Given the description of an element on the screen output the (x, y) to click on. 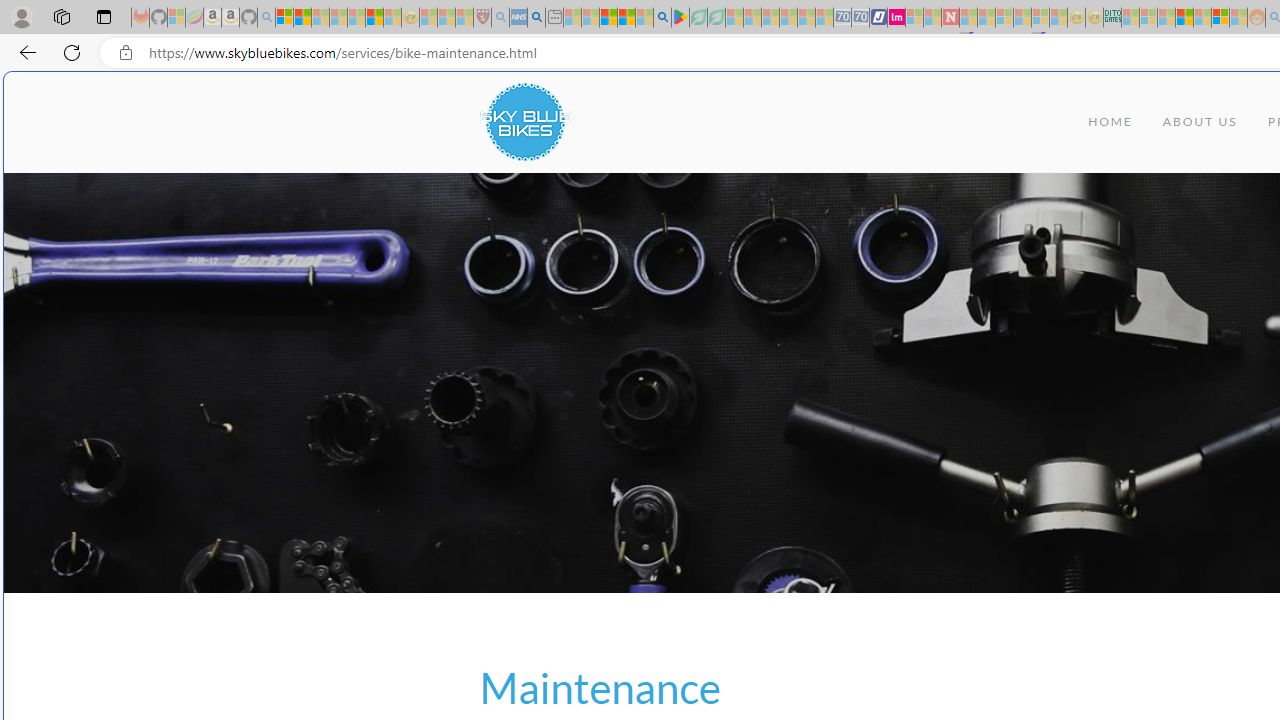
Expert Portfolios (1184, 17)
ABOUT US (1199, 122)
Bluey: Let's Play! - Apps on Google Play (680, 17)
Pets - MSN (626, 17)
